Given the description of an element on the screen output the (x, y) to click on. 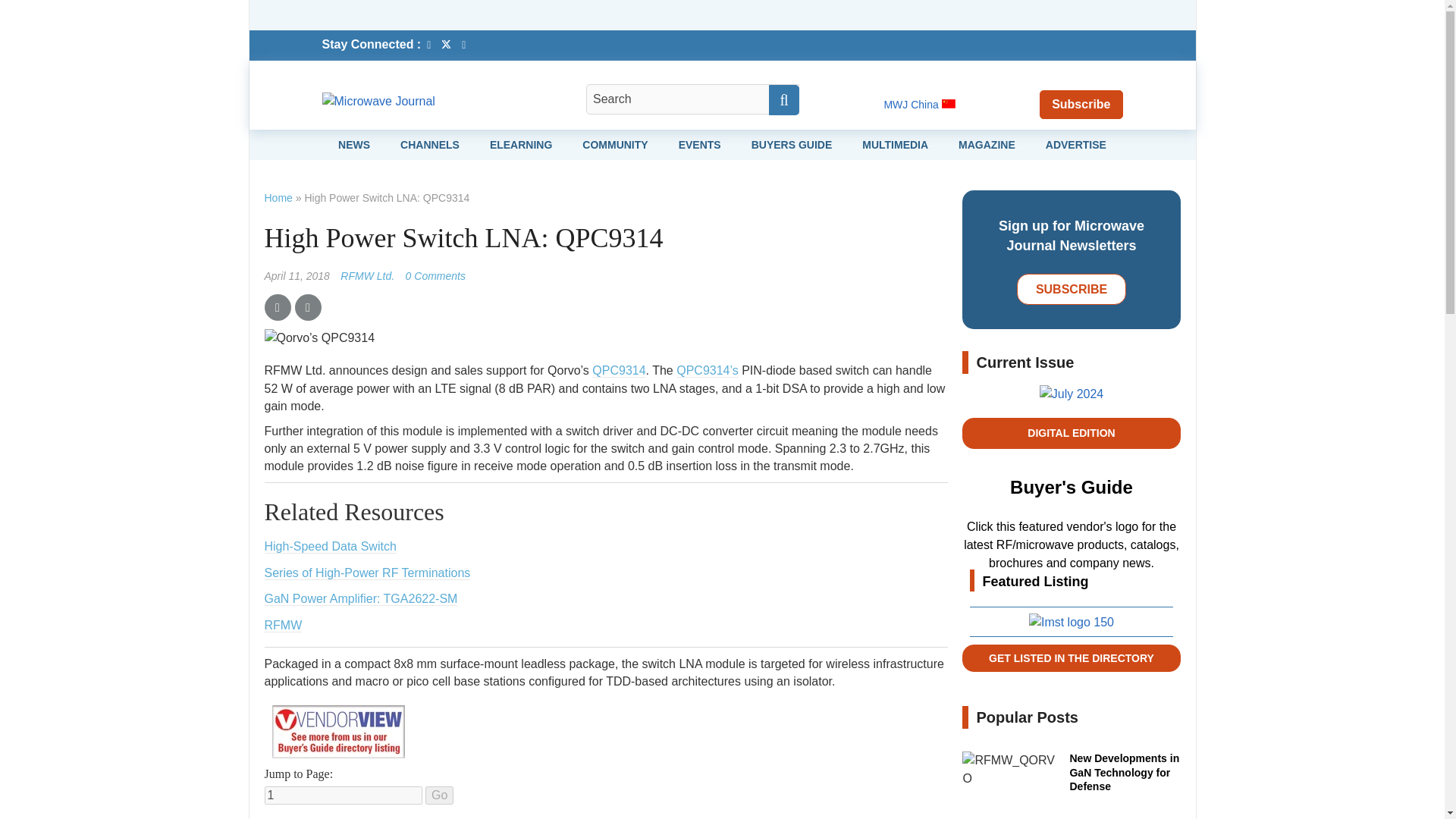
MWJ China (919, 104)
ELEARNING (520, 144)
Go (438, 795)
High Power Switch LNA:  QPC9314 (435, 275)
1 (342, 795)
Subscribe (1080, 103)
NEWS (353, 144)
CHANNELS (430, 144)
COMMUNITY (615, 144)
